Given the description of an element on the screen output the (x, y) to click on. 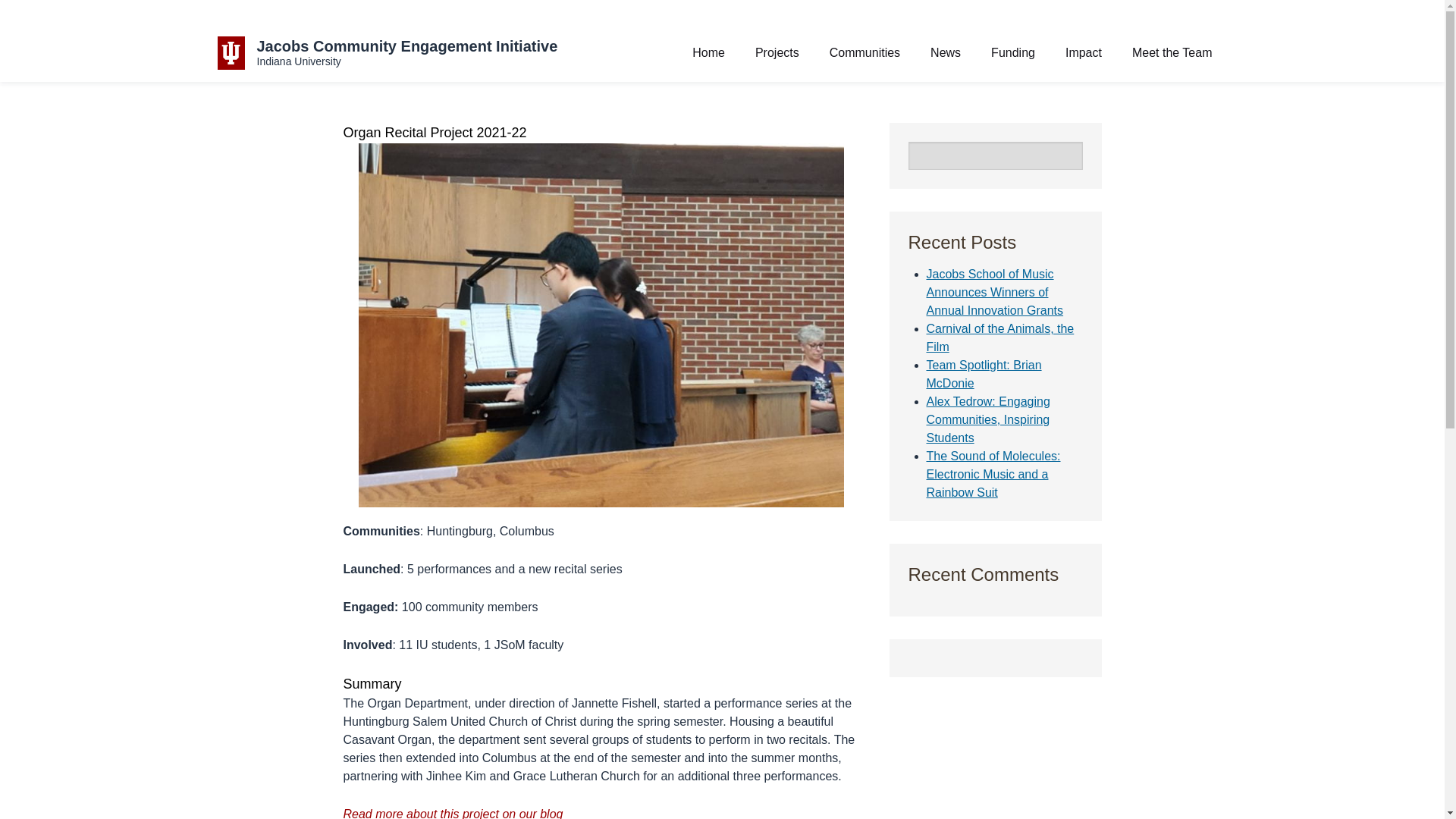
The Sound of Molecules: Electronic Music and a Rainbow Suit (993, 473)
Funding (1013, 52)
Meet the Team (1172, 52)
Projects (777, 52)
Read more about this project on our blog (452, 813)
Team Spotlight: Brian McDonie (984, 373)
Home (708, 52)
News (945, 52)
Alex Tedrow: Engaging Communities, Inspiring Students (987, 419)
